Given the description of an element on the screen output the (x, y) to click on. 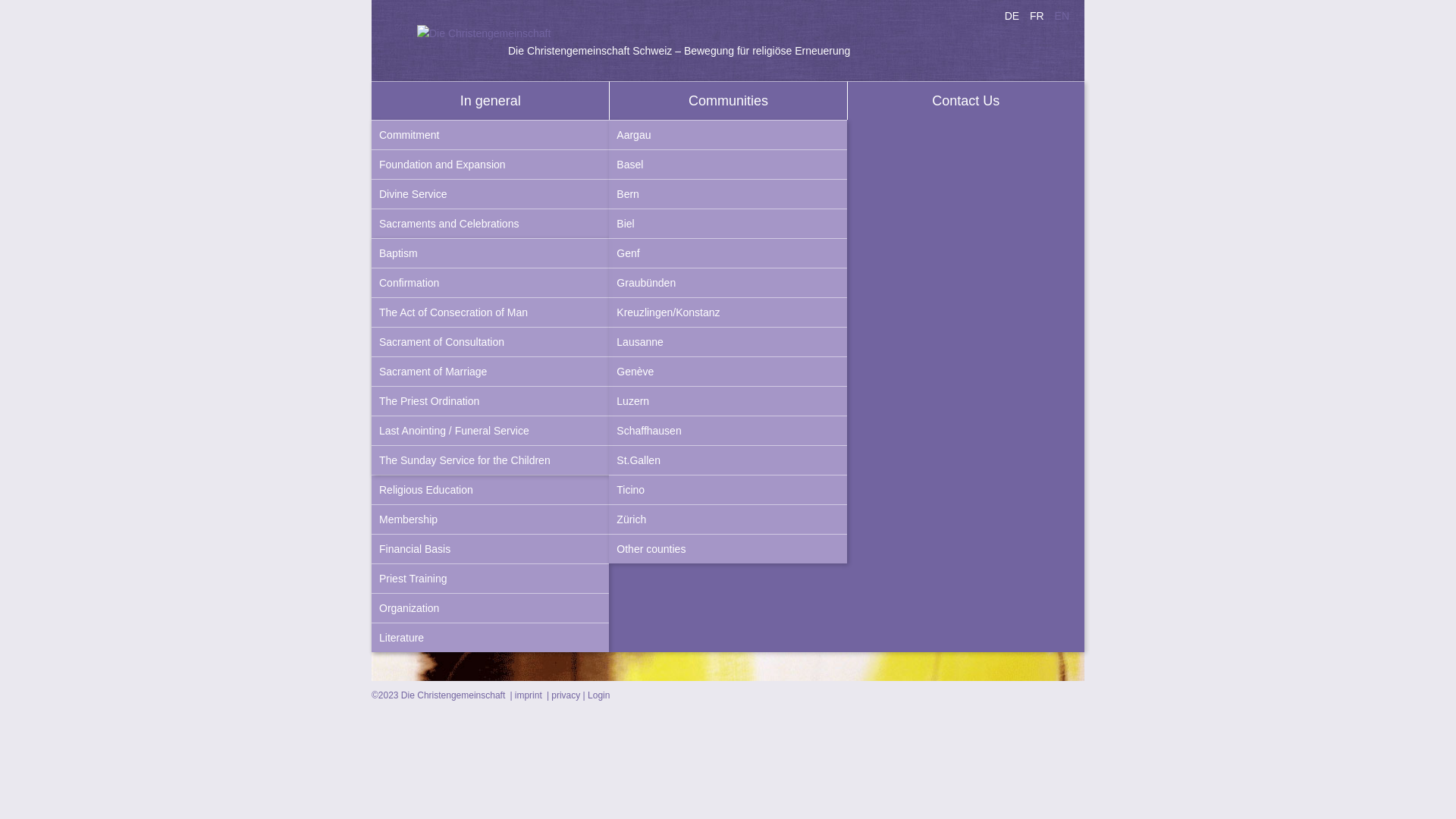
In general Element type: text (489, 100)
Contact Us Element type: text (965, 100)
EN Element type: text (1061, 15)
Schaffhausen Element type: text (727, 430)
FR Element type: text (1036, 15)
Lausanne Element type: text (727, 341)
Sacraments and Celebrations Element type: text (489, 223)
Last Anointing / Funeral Service Element type: text (489, 430)
The Sunday Service for the Children Element type: text (489, 459)
Sacrament of Marriage Element type: text (489, 370)
Kreuzlingen/Konstanz Element type: text (727, 311)
Literature Element type: text (489, 637)
Communities Element type: text (727, 100)
The Act of Consecration of Man Element type: text (489, 311)
Baptism Element type: text (489, 252)
Login Element type: text (598, 695)
Genf Element type: text (727, 252)
Luzern Element type: text (727, 400)
Sacrament of Consultation Element type: text (489, 341)
Commitment Element type: text (489, 134)
St.Gallen Element type: text (727, 459)
Divine Service Element type: text (489, 193)
privacy Element type: text (562, 695)
Basel Element type: text (727, 163)
DE Element type: text (1011, 15)
The Priest Ordination Element type: text (489, 400)
Aargau Element type: text (727, 134)
imprint Element type: text (525, 695)
Biel Element type: text (727, 223)
Organization Element type: text (489, 607)
Priest Training Element type: text (489, 578)
Confirmation Element type: text (489, 282)
Foundation and Expansion Element type: text (489, 163)
Membership Element type: text (489, 518)
Bern Element type: text (727, 193)
Ticino Element type: text (727, 489)
Religious Education Element type: text (489, 489)
Other counties Element type: text (727, 548)
Financial Basis Element type: text (489, 548)
